Given the description of an element on the screen output the (x, y) to click on. 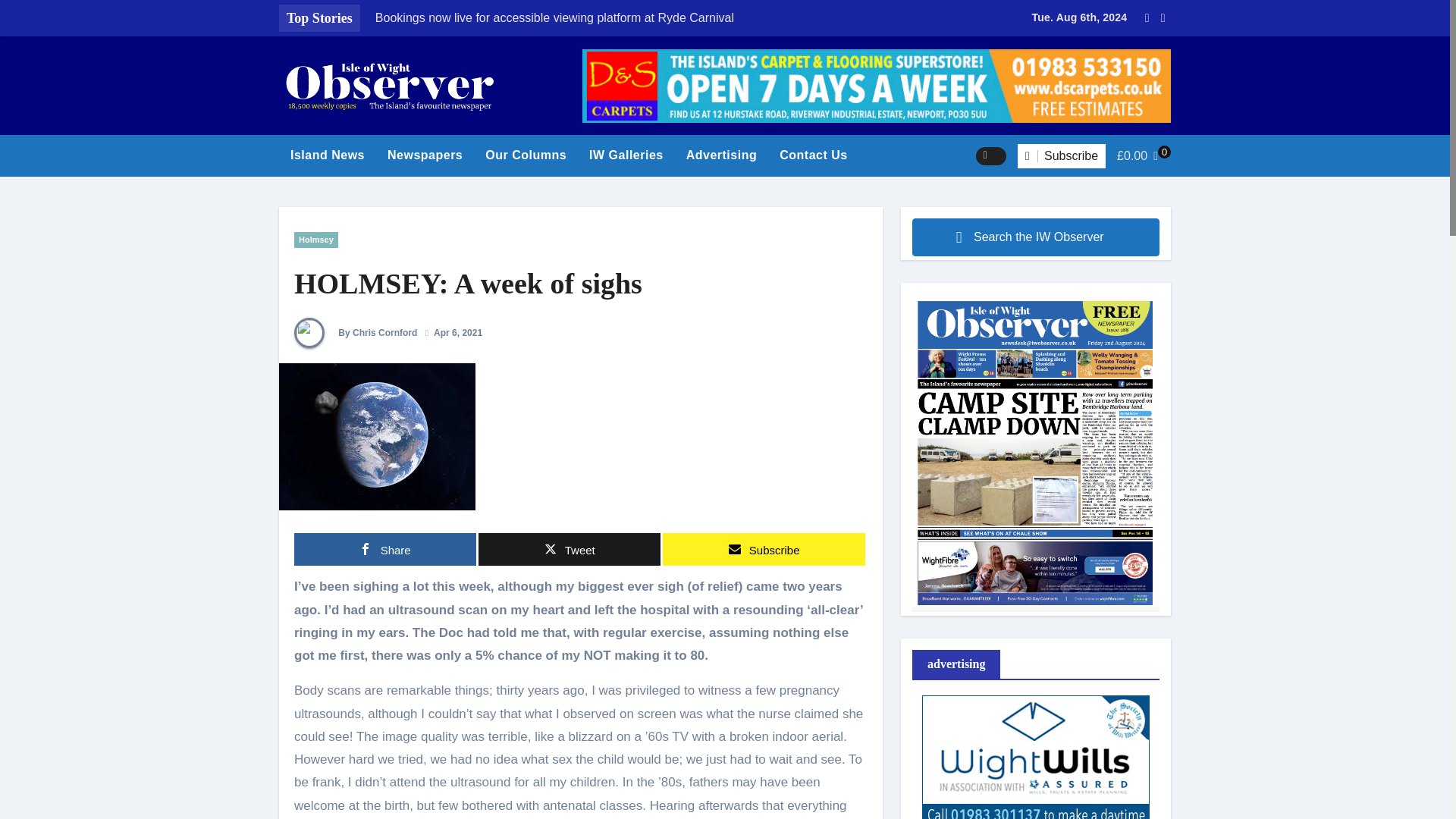
Island News (327, 155)
Newspapers (424, 155)
Our Columns (526, 155)
